Given the description of an element on the screen output the (x, y) to click on. 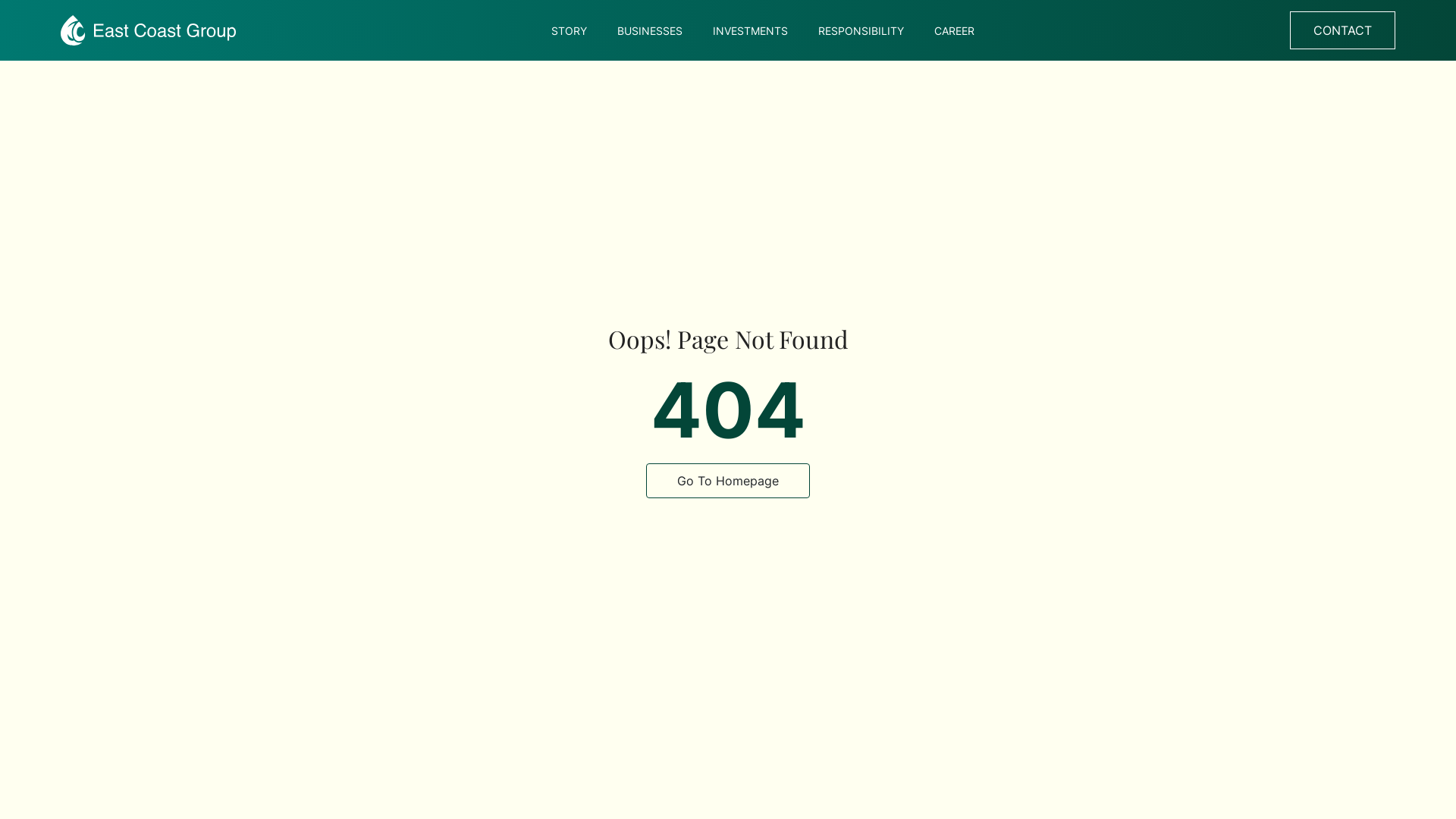
Go To Homepage Element type: text (727, 480)
R E S P O N S I B I L I T Y
R E S P O N S I B I L I T Y Element type: text (860, 30)
I N V E S T M E N T S
I N V E S T M E N T S Element type: text (749, 30)
B U S I N E S S E S
B U S I N E S S E S Element type: text (649, 30)
CONTACT Element type: text (1342, 30)
S T O R Y
S T O R Y Element type: text (568, 30)
C A R E E R
C A R E E R Element type: text (954, 30)
